Given the description of an element on the screen output the (x, y) to click on. 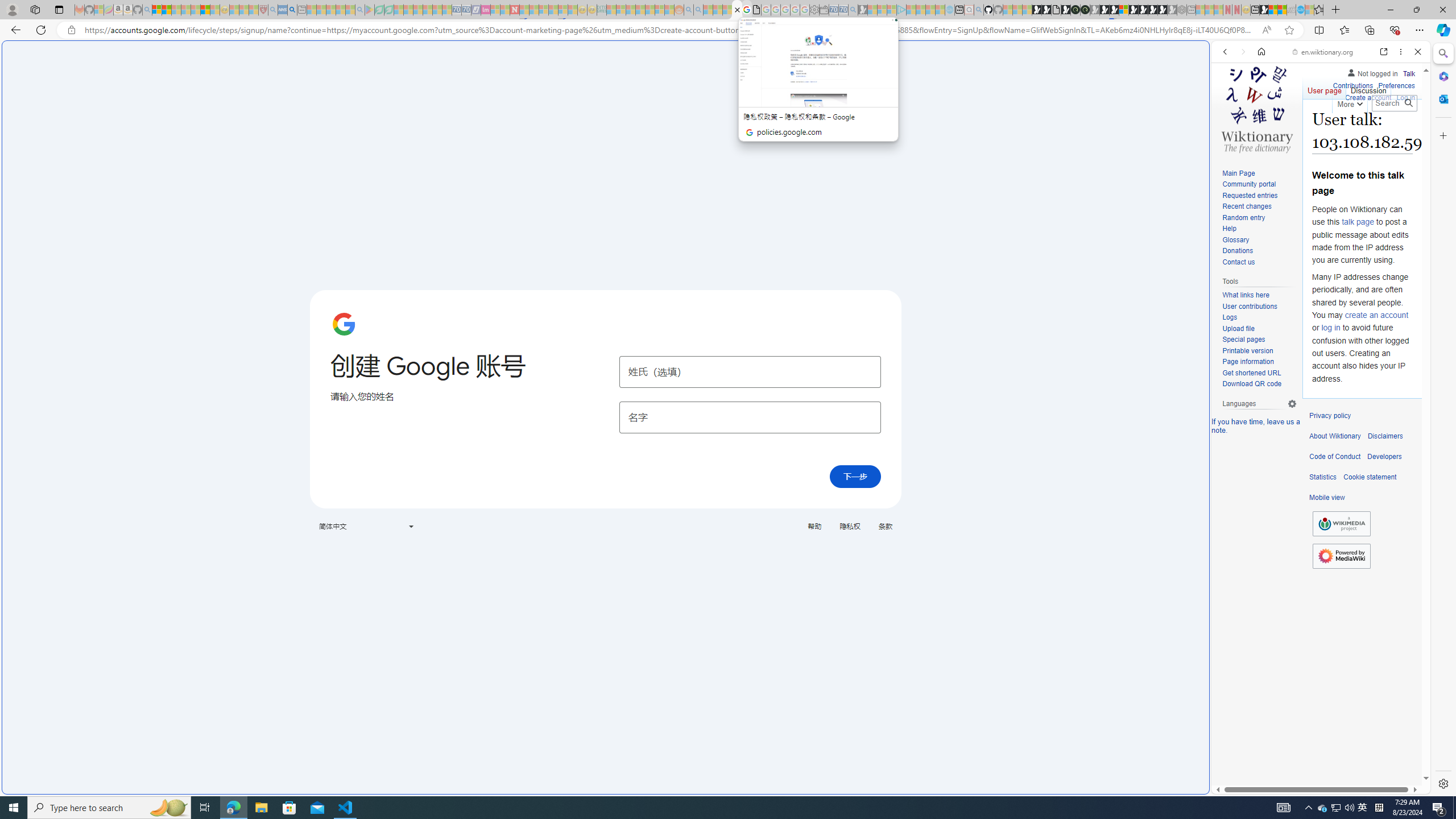
What links here (1259, 295)
create an account (1376, 314)
talk page (1357, 221)
Talk (1408, 71)
